Given the description of an element on the screen output the (x, y) to click on. 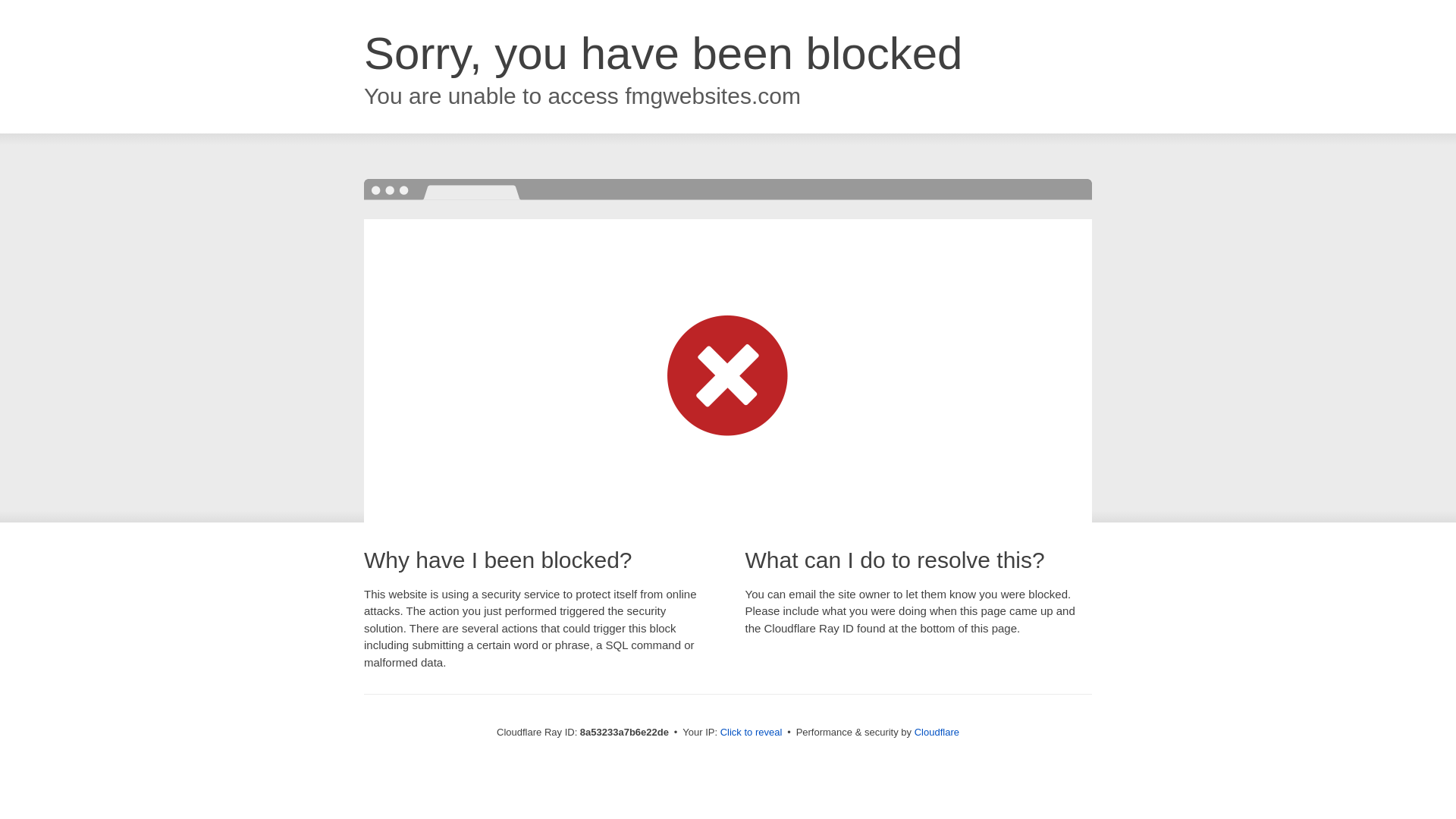
Click to reveal (751, 732)
Cloudflare (936, 731)
